Given the description of an element on the screen output the (x, y) to click on. 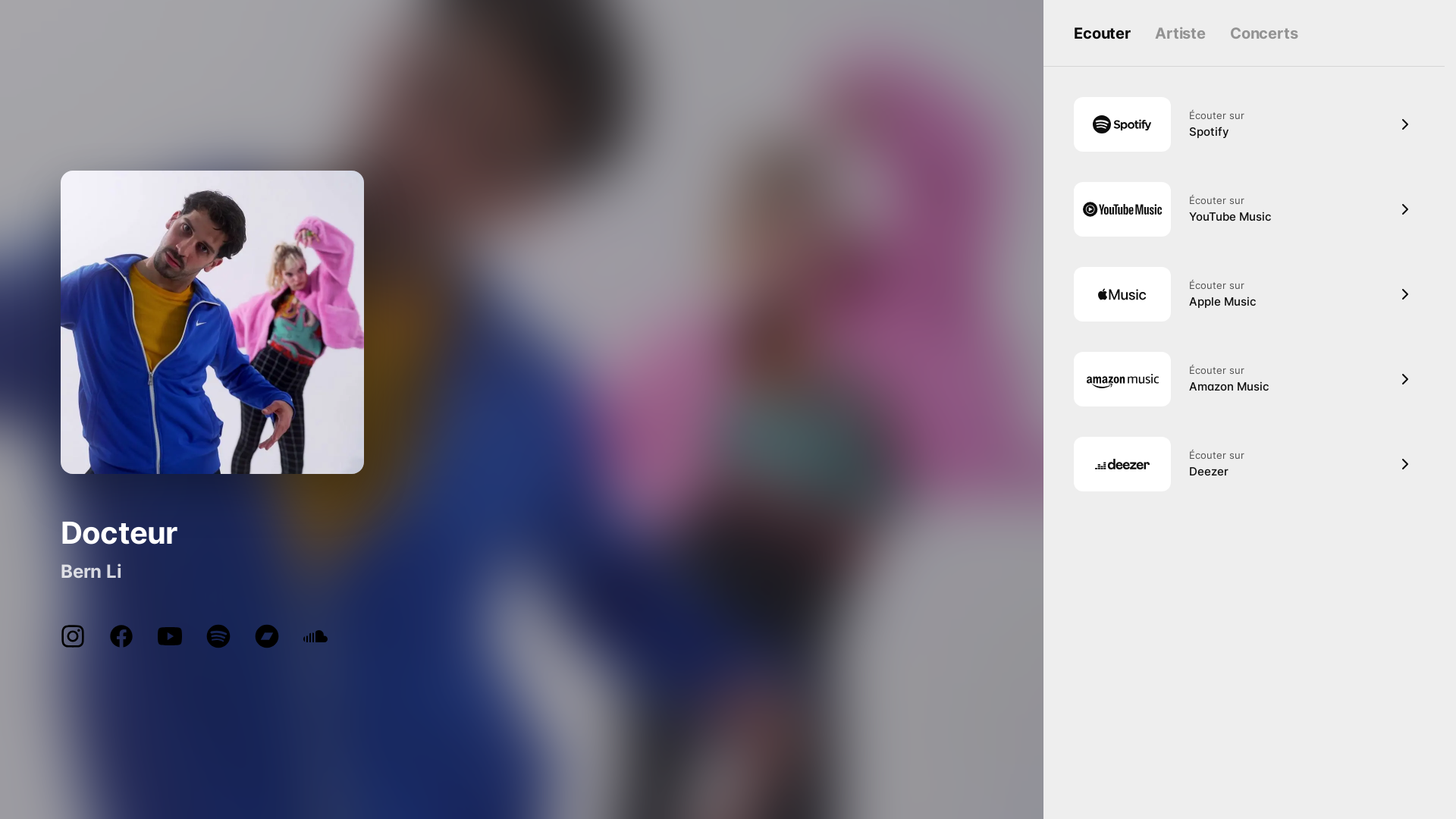
Artiste Element type: text (1179, 33)
Ecouter Element type: text (1101, 33)
Concerts Element type: text (1264, 33)
